Given the description of an element on the screen output the (x, y) to click on. 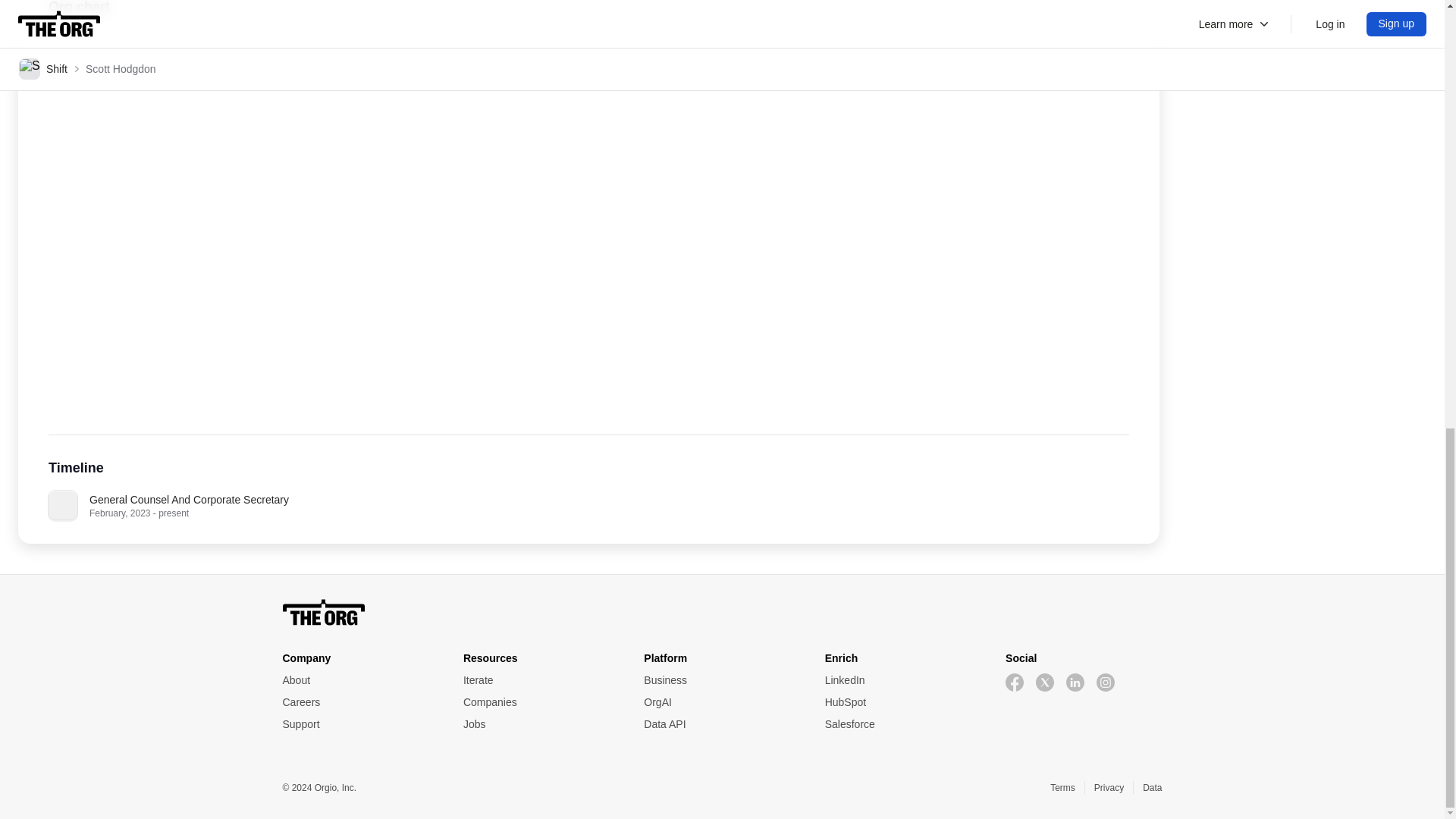
Careers (360, 702)
Jobs (541, 724)
LinkedIn (903, 680)
Iterate (541, 680)
Companies (541, 702)
Business (721, 680)
Data API (721, 724)
OrgAI (721, 702)
Support (360, 724)
Careers (360, 702)
